Given the description of an element on the screen output the (x, y) to click on. 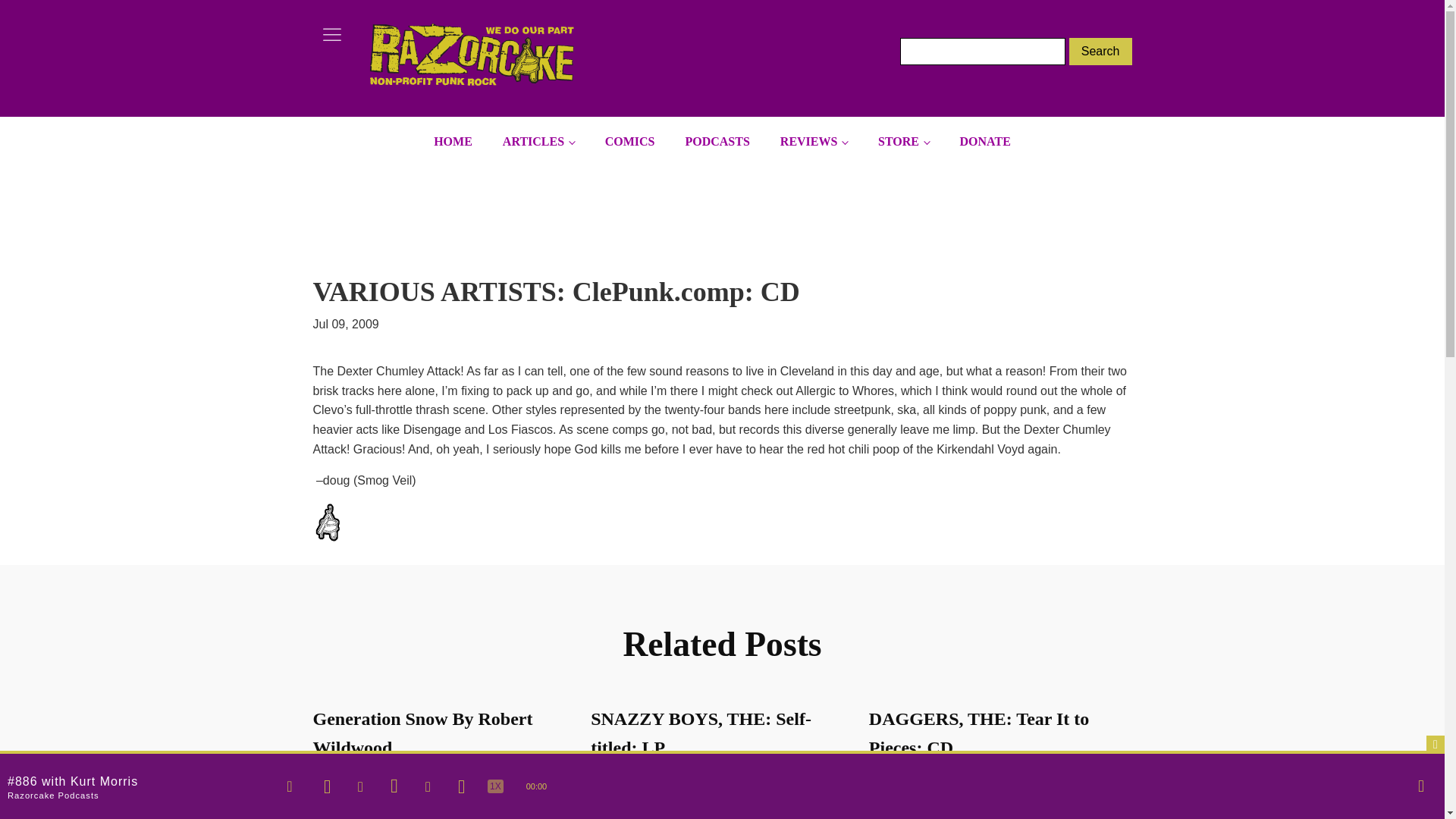
Search (1100, 51)
ARTICLES (538, 142)
Search (1100, 51)
Volume (1420, 786)
PODCASTS (716, 142)
COMICS (629, 142)
HOME (453, 142)
